Given the description of an element on the screen output the (x, y) to click on. 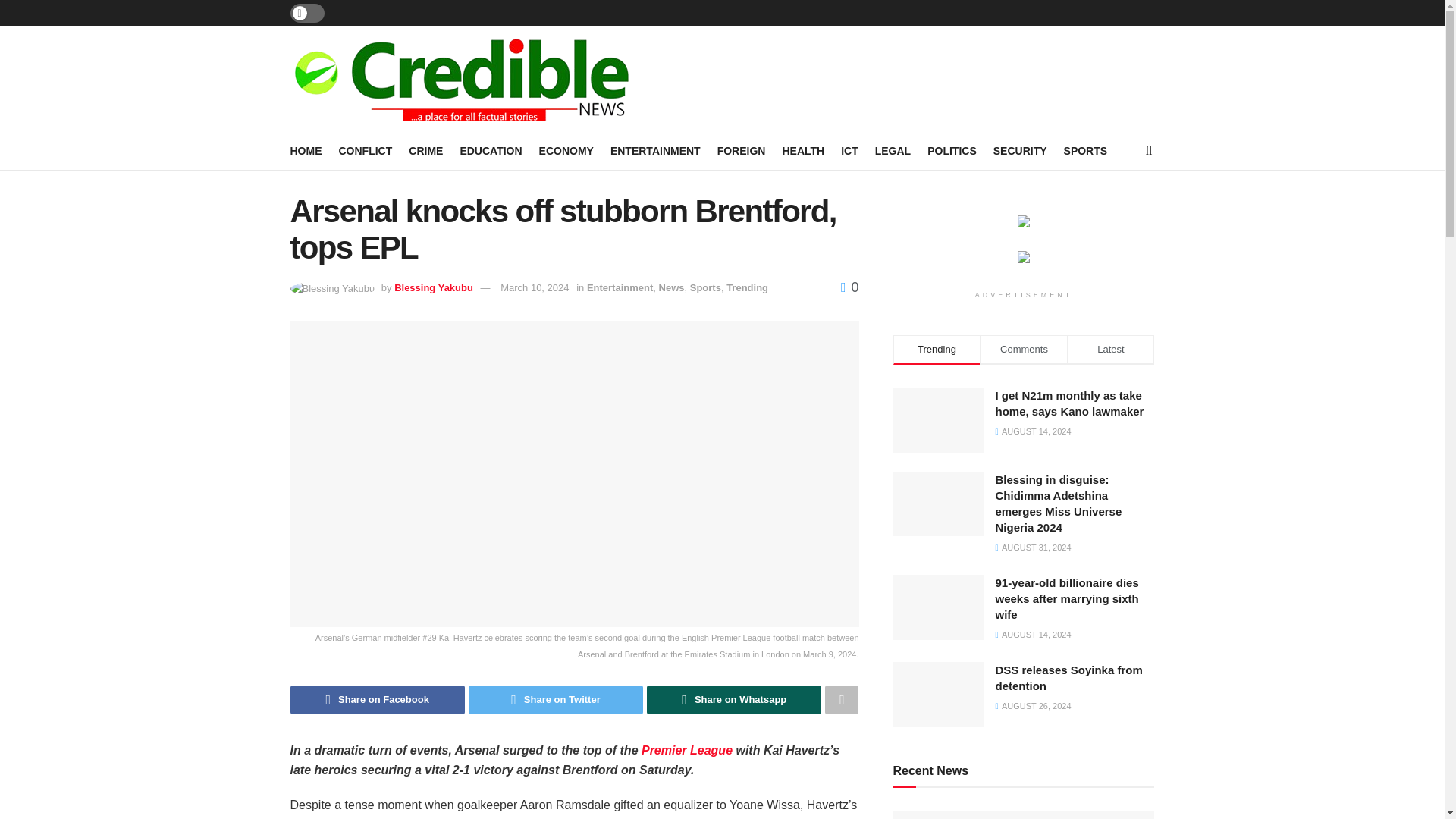
LEGAL (893, 150)
March 10, 2024 (534, 287)
HOME (305, 150)
SECURITY (1019, 150)
SPORTS (1086, 150)
Entertainment (619, 287)
CRIME (425, 150)
POLITICS (951, 150)
ENTERTAINMENT (655, 150)
CONFLICT (364, 150)
